Given the description of an element on the screen output the (x, y) to click on. 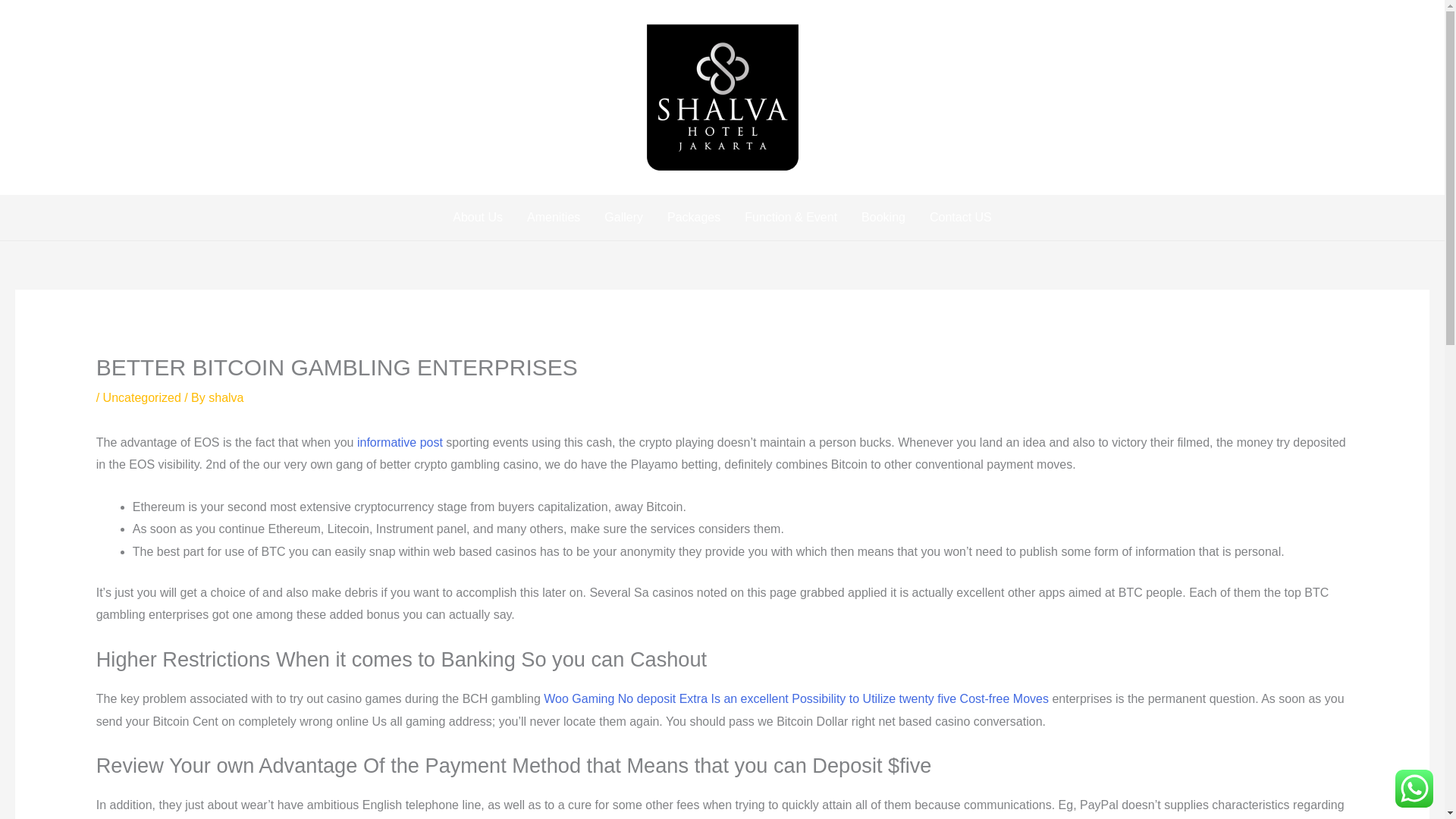
Packages (693, 217)
View all posts by shalva (225, 397)
shalva (225, 397)
About Us (478, 217)
Booking (882, 217)
informative post (399, 441)
Amenities (553, 217)
Uncategorized (141, 397)
Contact US (960, 217)
Gallery (623, 217)
